Given the description of an element on the screen output the (x, y) to click on. 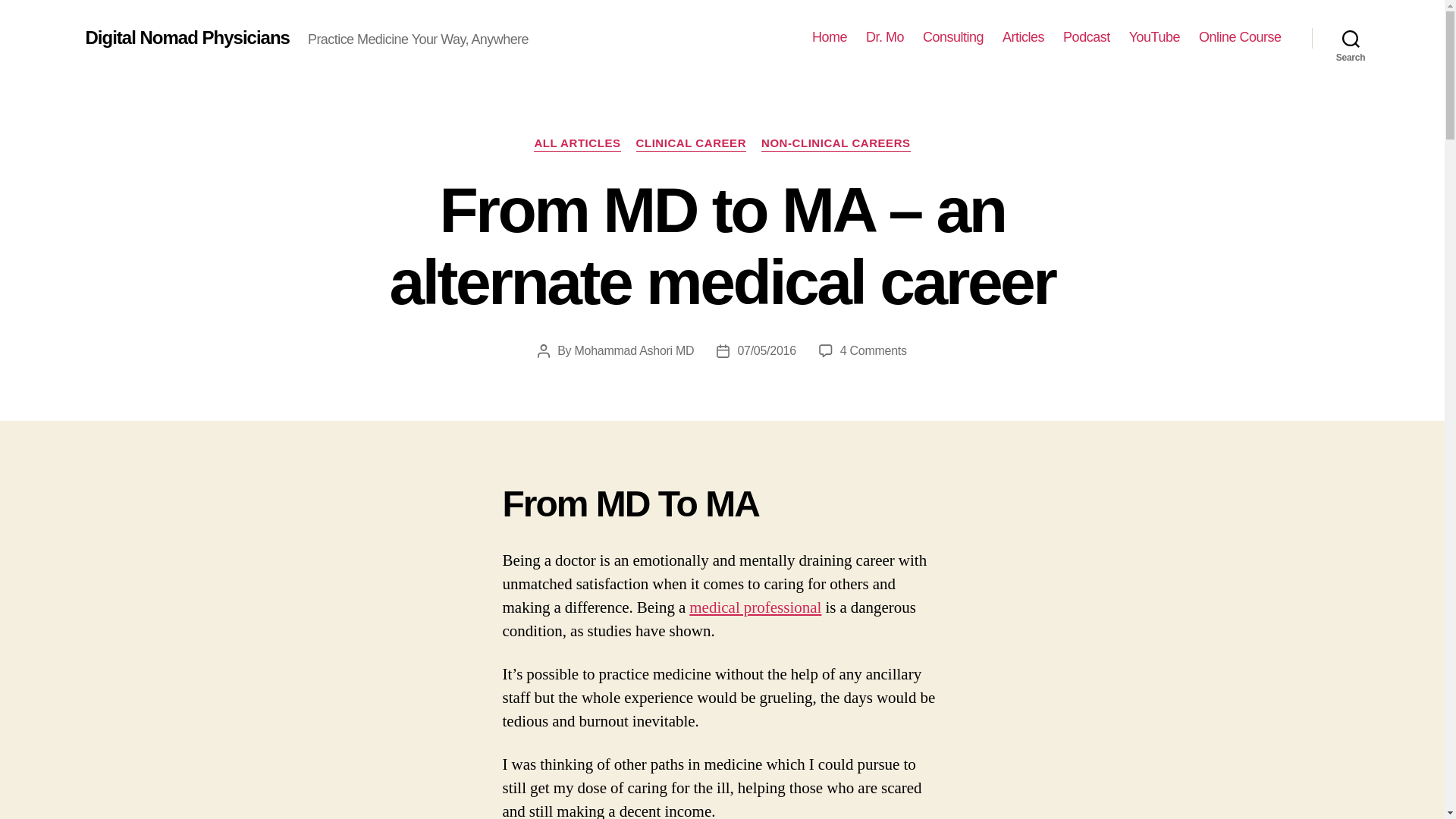
Podcast (1085, 37)
Home (829, 37)
YouTube (1154, 37)
medical professional (754, 607)
Digital Nomad Physicians (186, 37)
Consulting (953, 37)
Online Course (1239, 37)
Search (1350, 37)
NON-CLINICAL CAREERS (836, 143)
A little about me and my timeline. (885, 37)
